Given the description of an element on the screen output the (x, y) to click on. 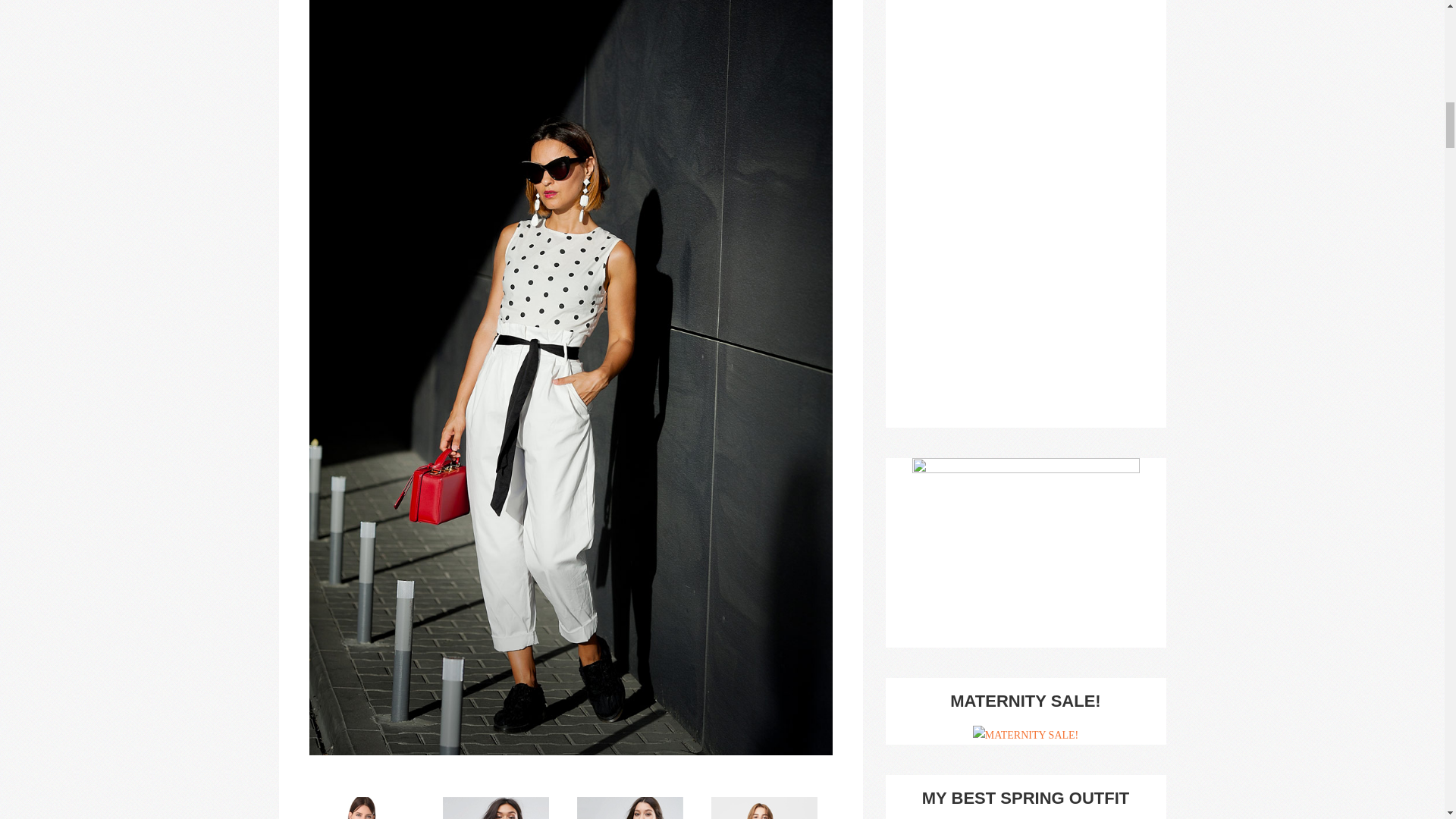
MANGO - ZALANDO (771, 807)
PrettyLittleThing - ASOS (502, 807)
BOOHOO - ASOS (636, 807)
MILLY - SHOPBOP (368, 807)
